Given the description of an element on the screen output the (x, y) to click on. 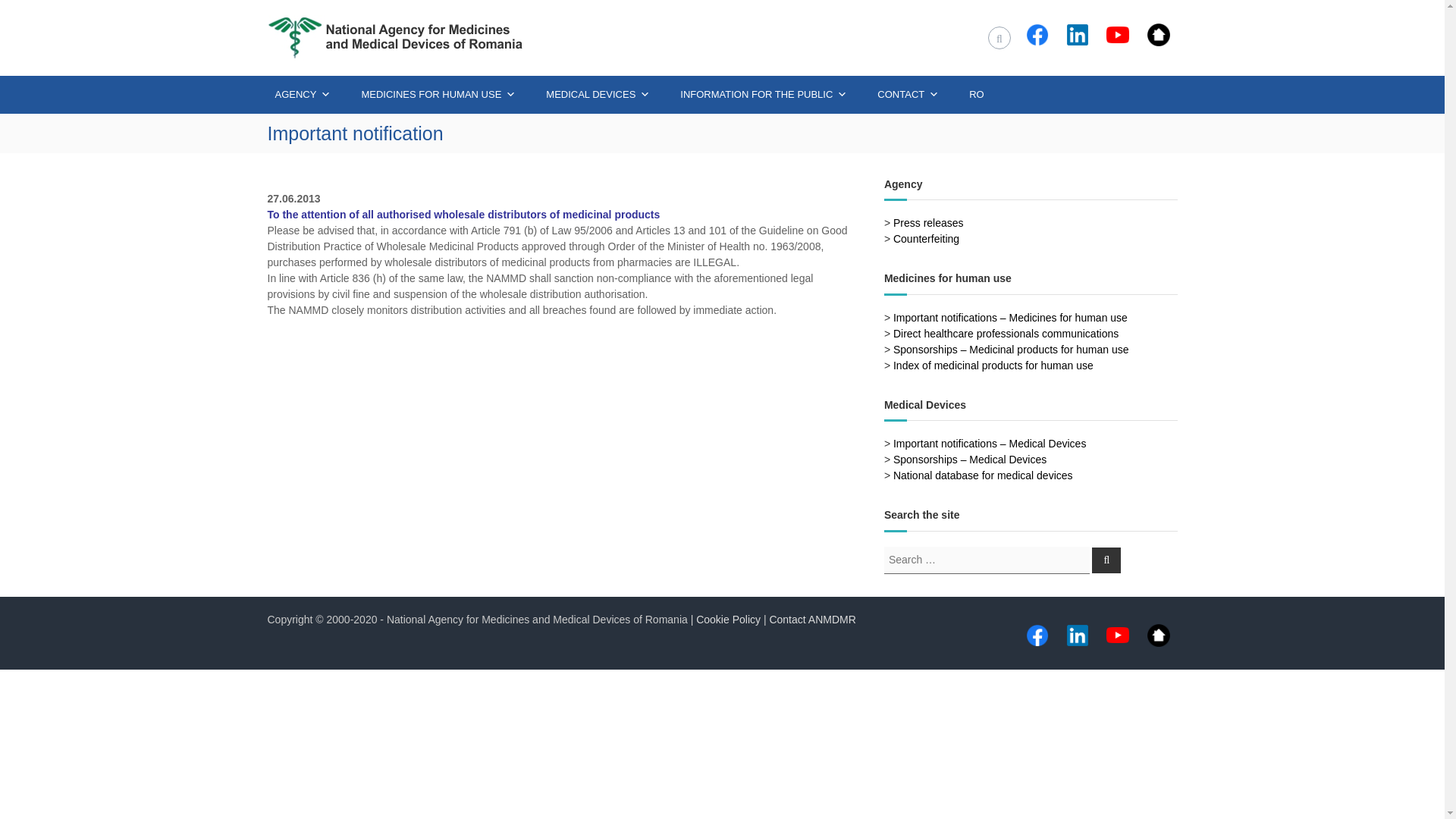
MEDICINES FOR HUMAN USE (437, 94)
AGENCY (301, 94)
